Given the description of an element on the screen output the (x, y) to click on. 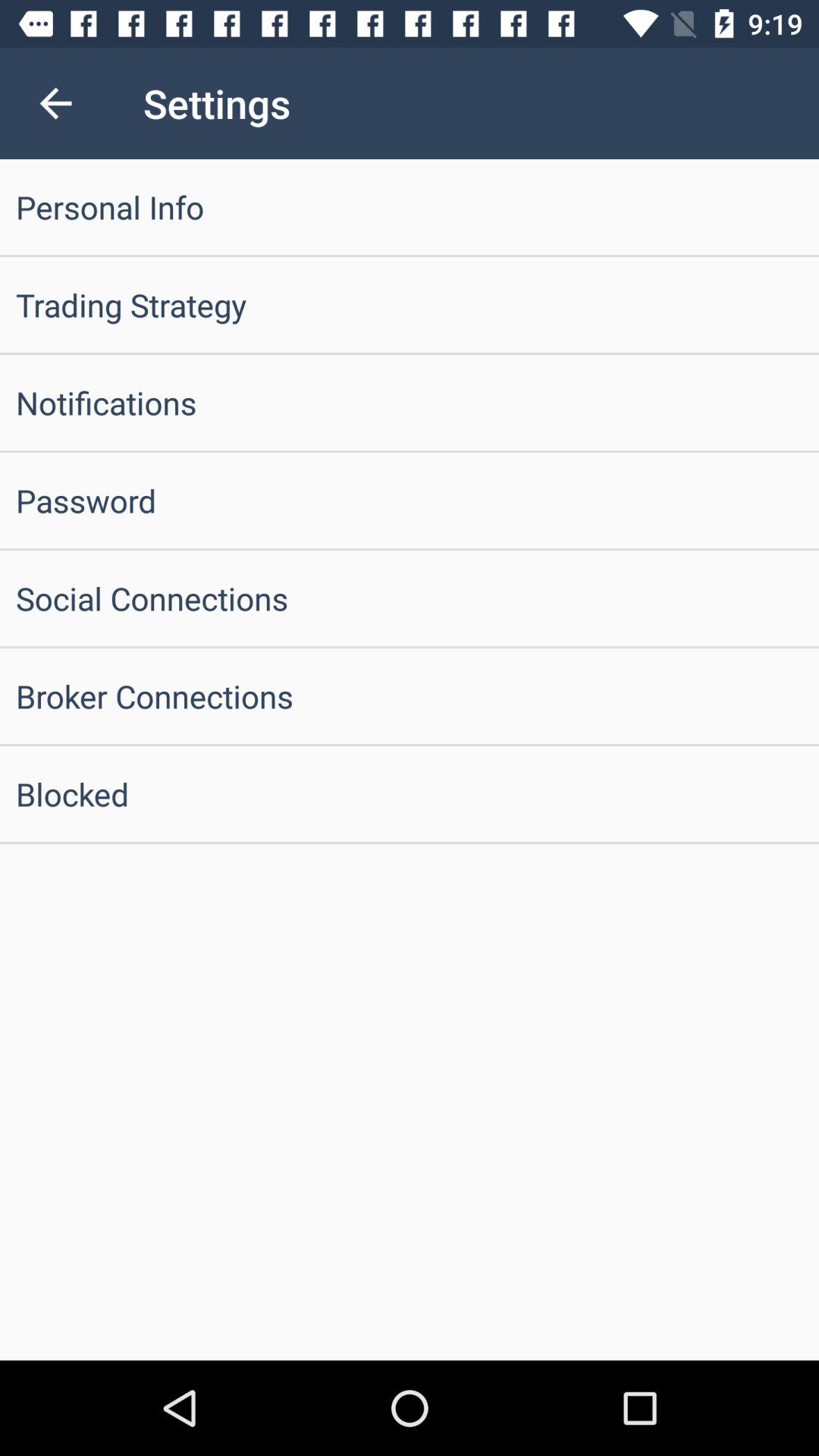
swipe until the password (409, 500)
